Given the description of an element on the screen output the (x, y) to click on. 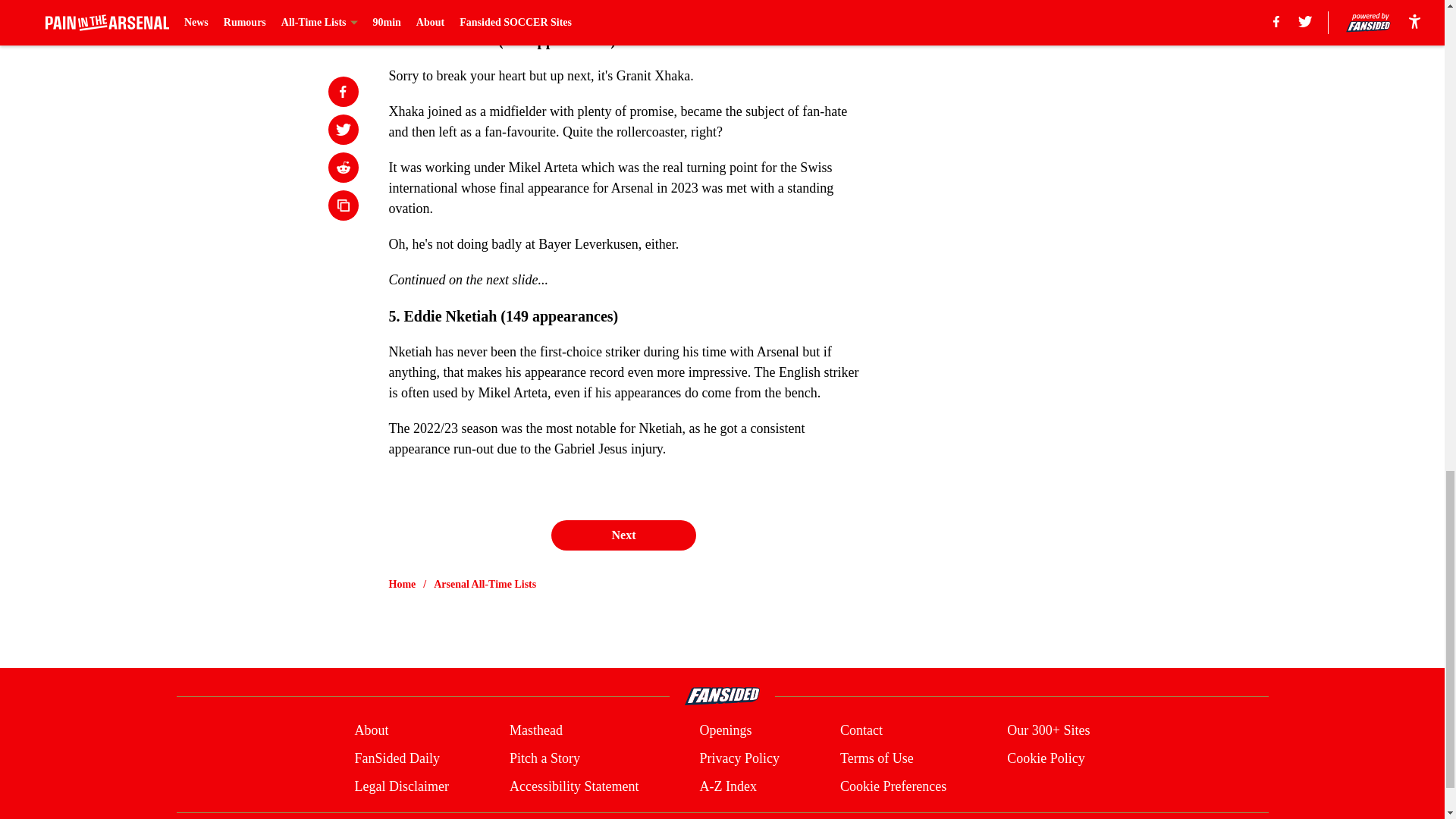
Privacy Policy (738, 758)
Next (622, 535)
Cookie Policy (1045, 758)
Terms of Use (877, 758)
Contact (861, 730)
Home (401, 584)
FanSided Daily (396, 758)
About (370, 730)
Openings (724, 730)
Arsenal All-Time Lists (484, 584)
Pitch a Story (544, 758)
Masthead (535, 730)
